Given the description of an element on the screen output the (x, y) to click on. 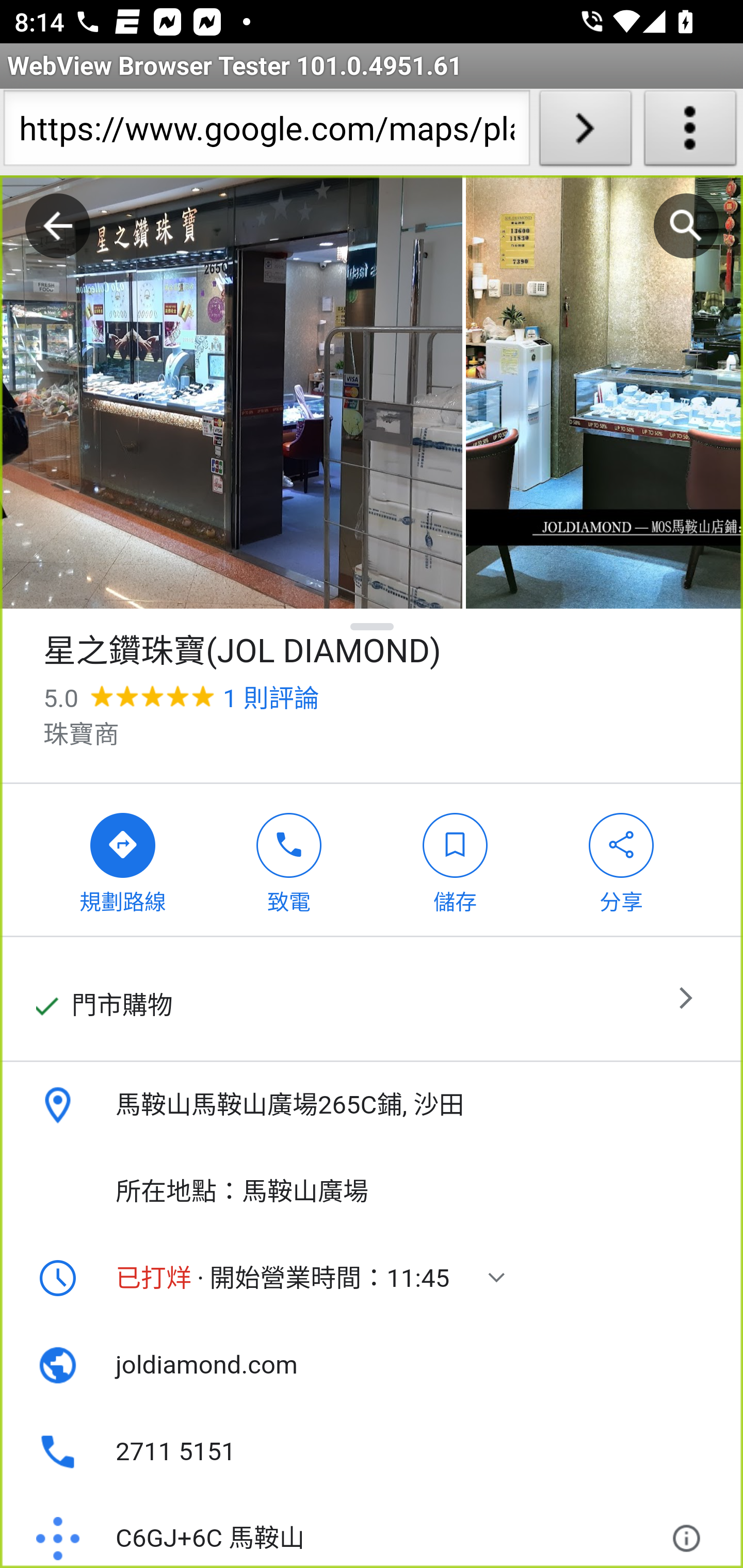
Load URL (585, 132)
About WebView (690, 132)
第 1 張相片 (共 6 張) (231, 392)
第 2 張相片 (共 6 張) (604, 392)
返回 (58, 226)
搜尋 (686, 226)
隱藏詳細資訊 (372, 626)
5.0 星級 1 則評論 (181, 698)
前往星之鑽珠寶(JOL DIAMOND)的路線 (123, 858)
致電「星之鑽珠寶(JOL DIAMOND)」  致電 (289, 858)
將「星之鑽珠寶(JOL DIAMOND)」儲存至清單中 (454, 858)
分享「星之鑽珠寶(JOL DIAMOND)」 (621, 858)
可到門市購物  (371, 999)
地址: 馬鞍山馬鞍山廣場265C鋪, 沙田  (371, 1104)
所在地點：馬鞍山廣場 (371, 1191)
營業時間 已打烊 ⋅ 開始營業時間：11:45 顯示本週營業時間 (371, 1278)
網站: joldiamond.com  joldiamond.com (371, 1364)
電話號碼: 2711 5151  2711 5151 (371, 1451)
Plus Code: C6GJ+6C 馬鞍山 (345, 1530)
進一步瞭解 Plus Codes (690, 1530)
